Given the description of an element on the screen output the (x, y) to click on. 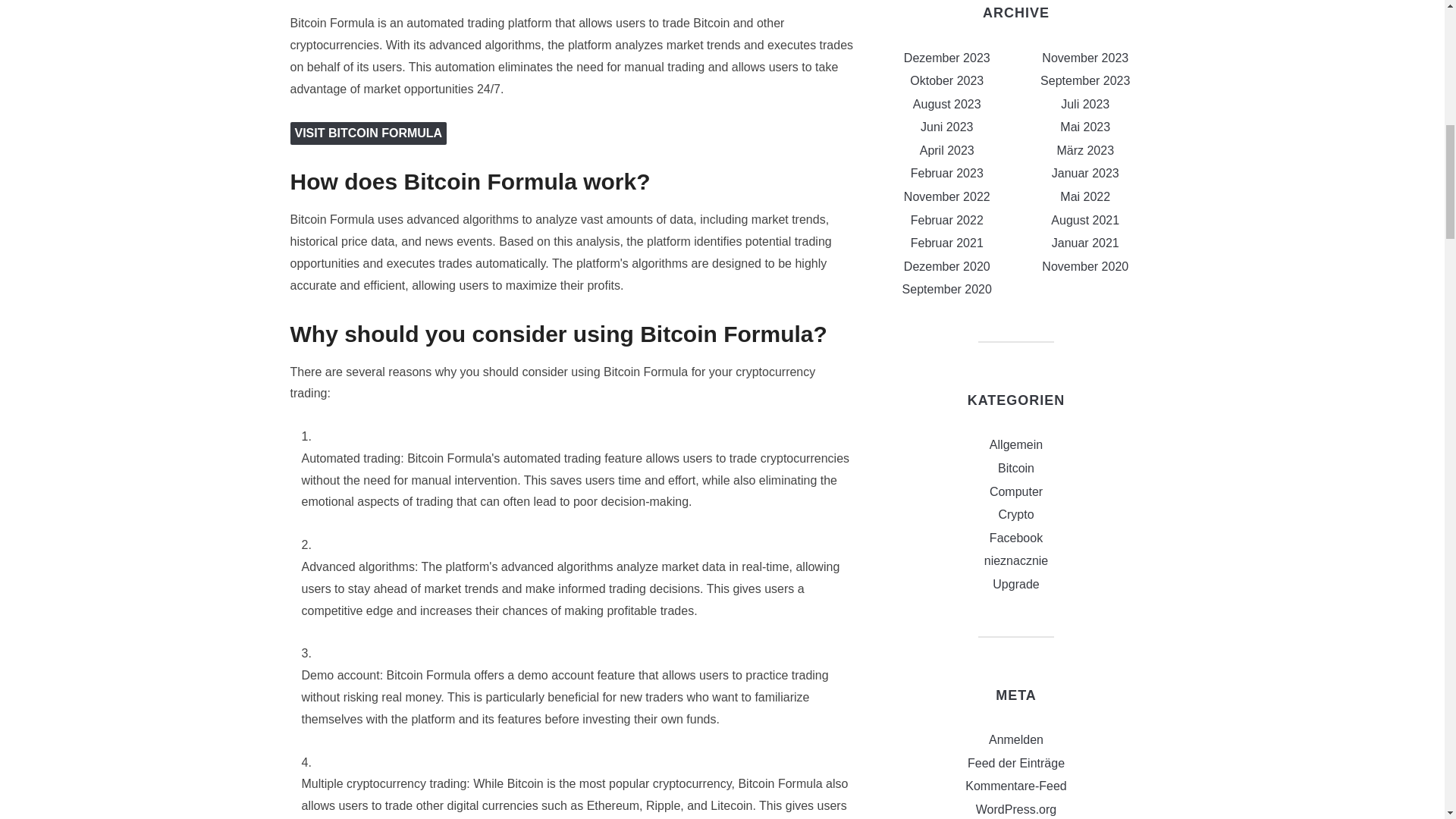
VISIT BITCOIN FORMULA (367, 133)
Mai 2022 (1084, 196)
Januar 2023 (1085, 173)
September 2023 (1085, 80)
Juli 2023 (1085, 103)
VISIT BITCOIN FORMULA (367, 132)
Juni 2023 (946, 126)
Februar 2022 (947, 219)
November 2023 (1085, 57)
November 2022 (947, 196)
